Given the description of an element on the screen output the (x, y) to click on. 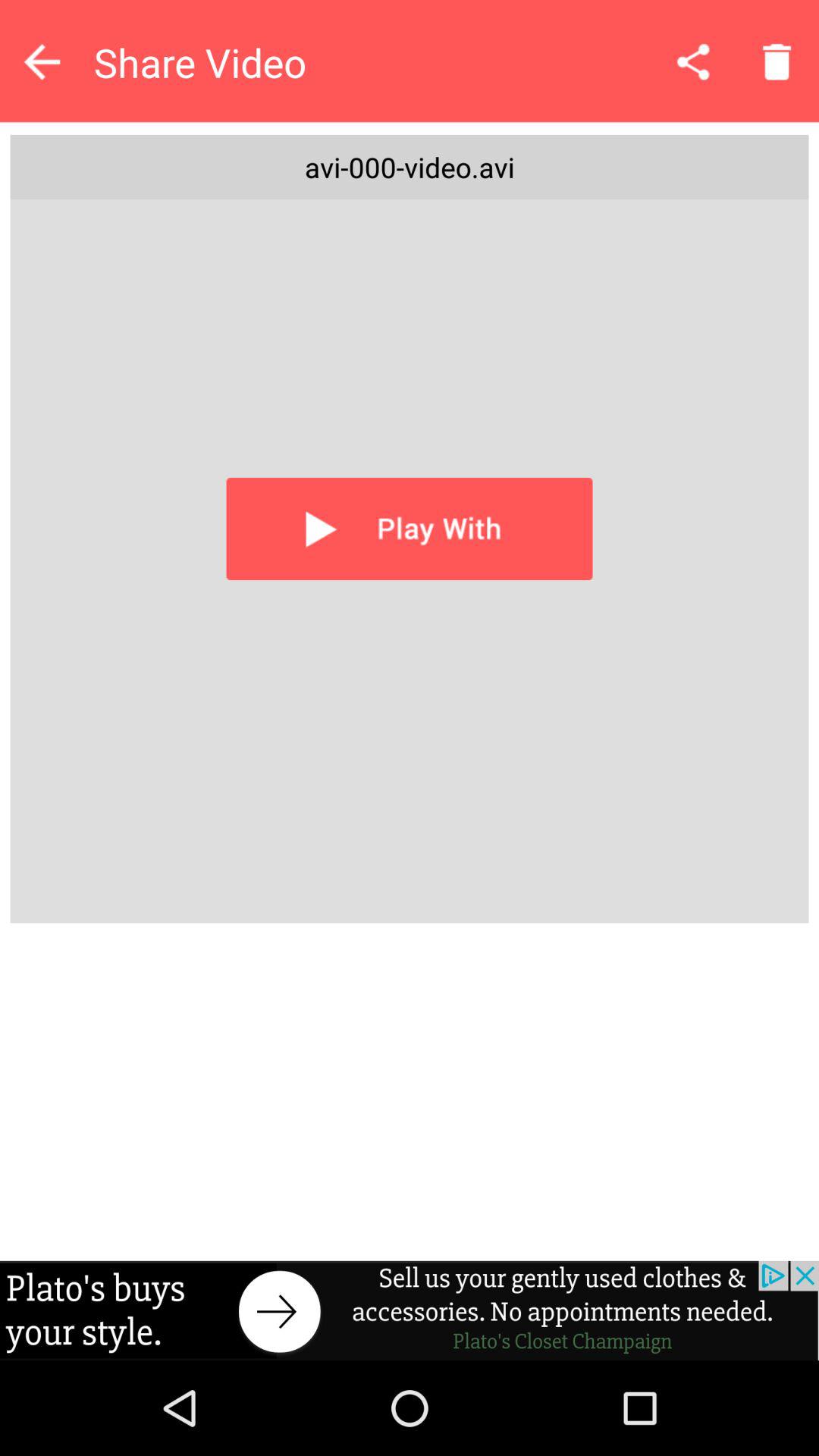
play (409, 528)
